Given the description of an element on the screen output the (x, y) to click on. 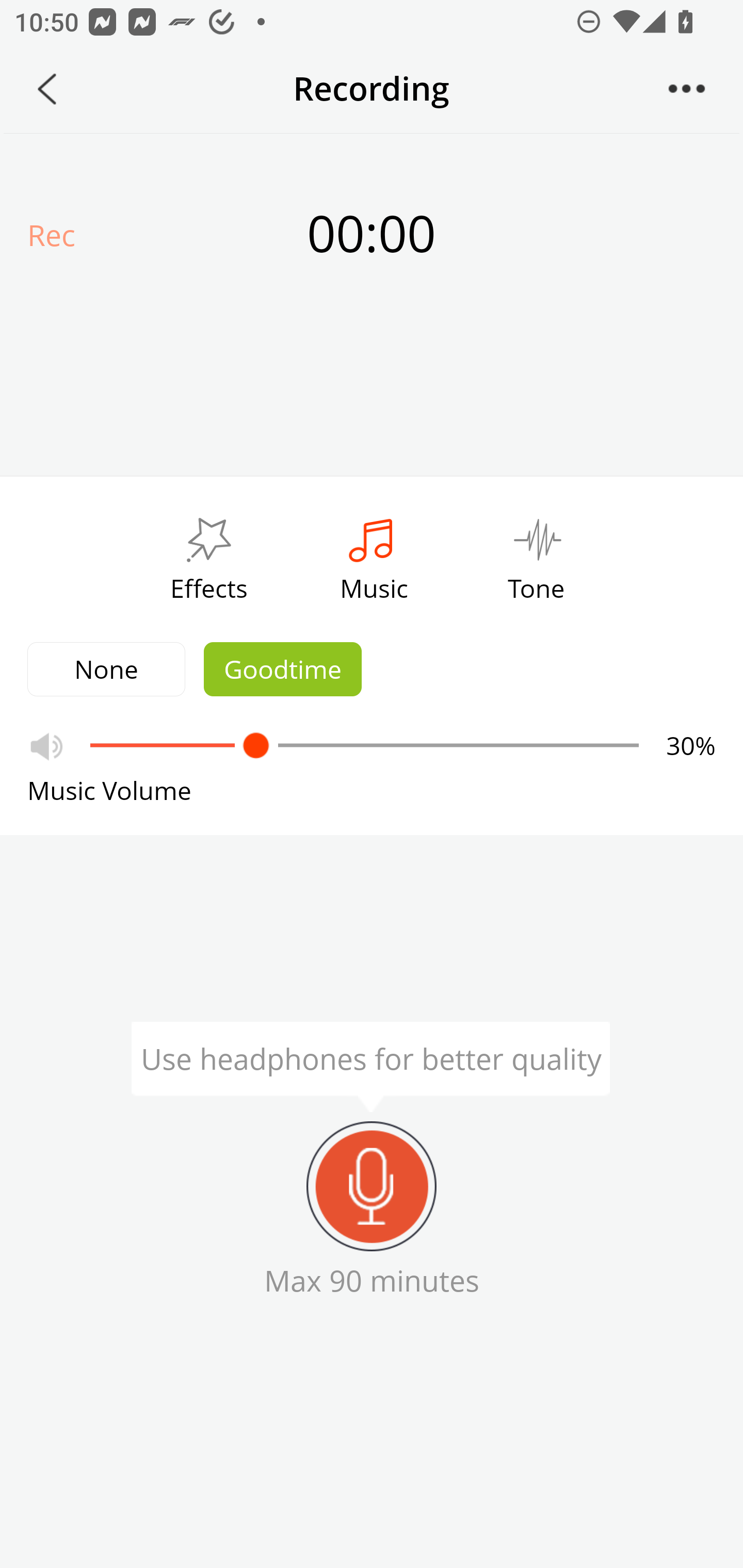
Back (46, 88)
Effects (208, 554)
Music (374, 554)
Tone (536, 554)
None (106, 669)
Goodtime (282, 669)
Recording (371, 1186)
